Given the description of an element on the screen output the (x, y) to click on. 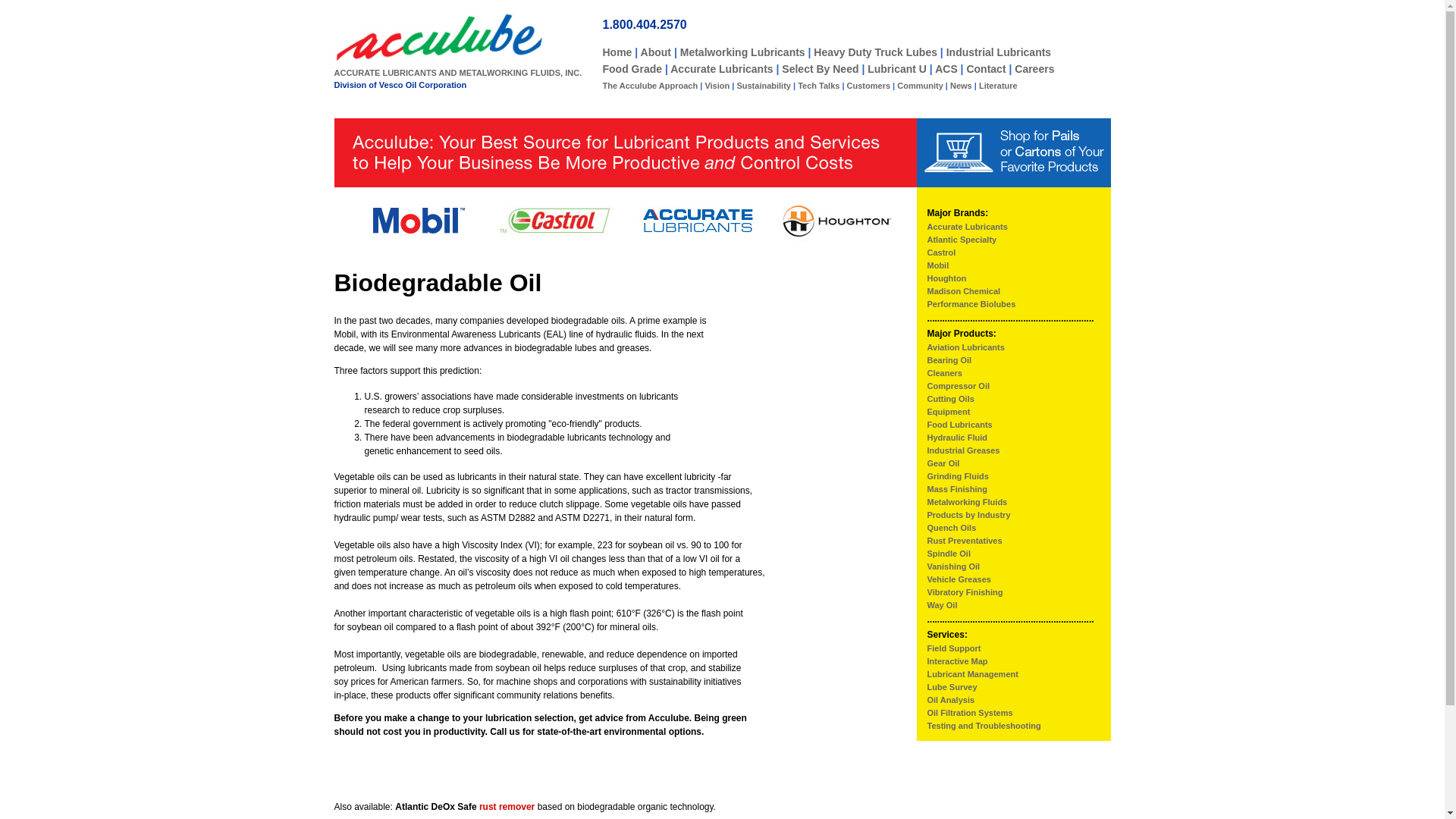
About (655, 51)
The Acculube Approach (649, 85)
Select By Need (820, 69)
Metalworking Fluids (966, 501)
Grinding Fluids (957, 475)
Atlantic Specialty (960, 239)
Mobil (937, 265)
Performance Biolubes (970, 303)
Vision (716, 85)
Cutting Oils (950, 398)
